Given the description of an element on the screen output the (x, y) to click on. 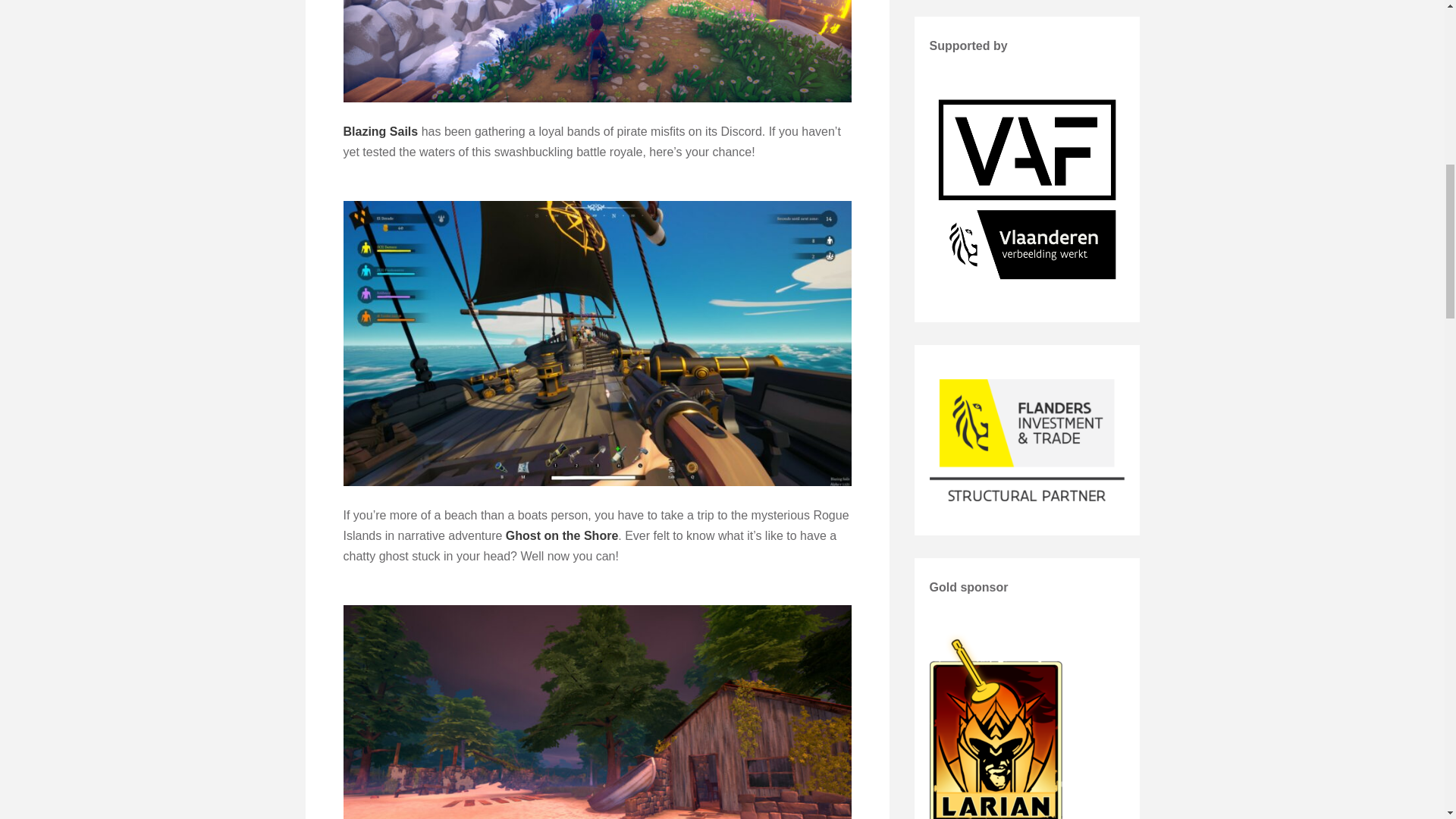
Ghost on the Shore (561, 535)
Blazing Sails (379, 131)
